Given the description of an element on the screen output the (x, y) to click on. 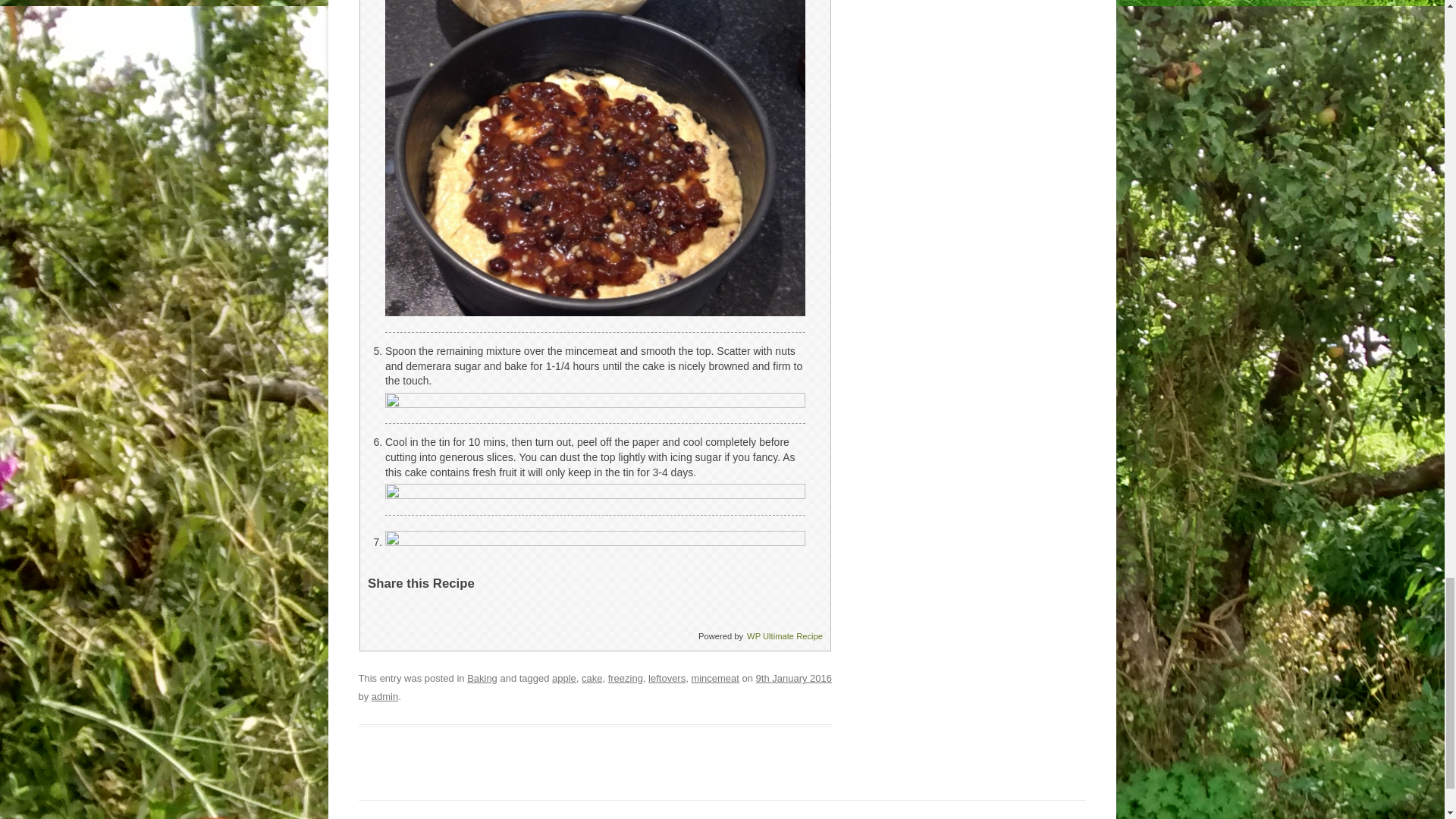
freezing (625, 677)
10:33 am (793, 677)
mincemeat (714, 677)
leftovers (666, 677)
9th January 2016 (793, 677)
admin (384, 696)
WP Ultimate Recipe (784, 635)
apple (563, 677)
cake (591, 677)
Baking (482, 677)
